Given the description of an element on the screen output the (x, y) to click on. 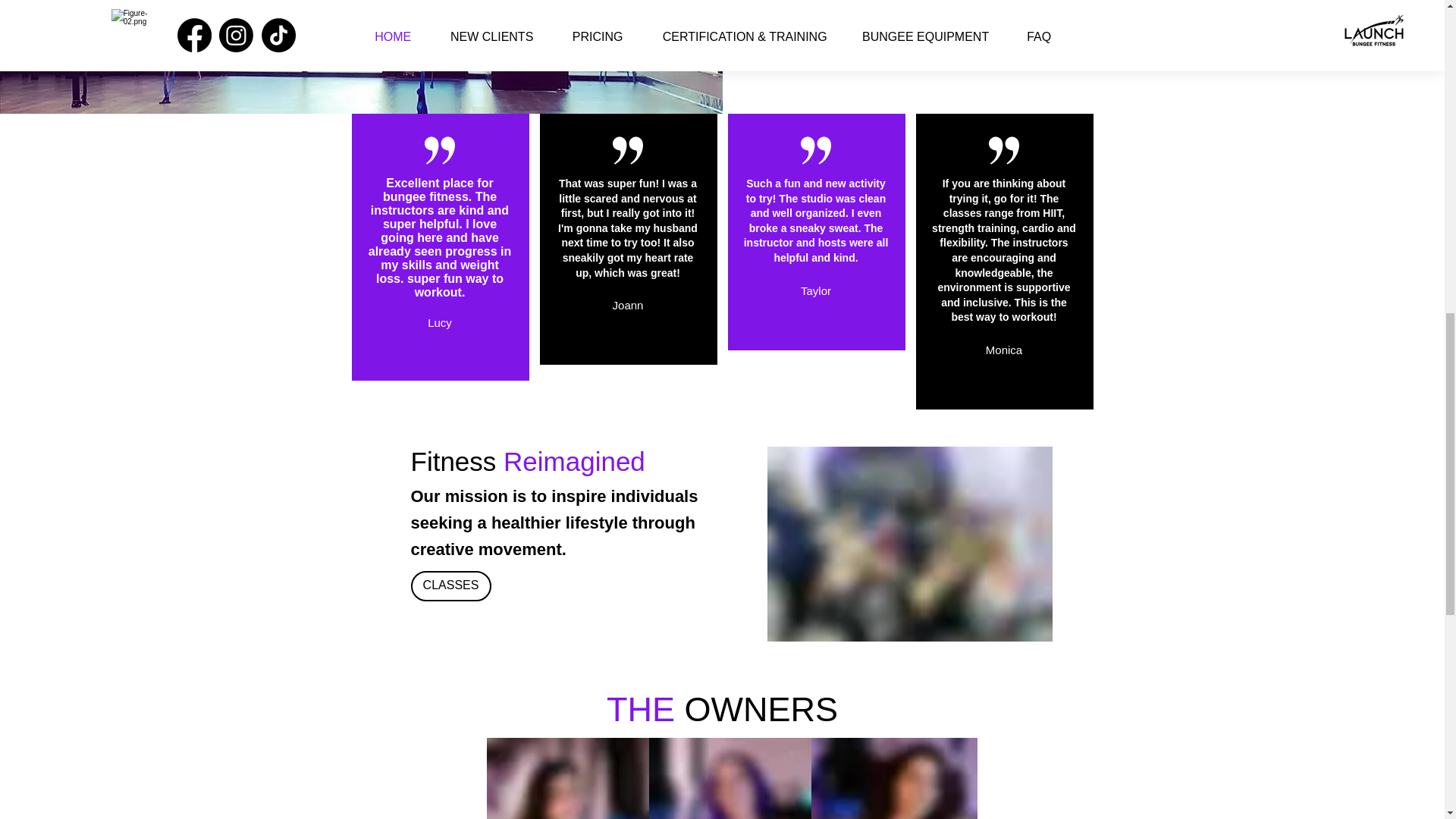
CLASSES (451, 585)
